Given the description of an element on the screen output the (x, y) to click on. 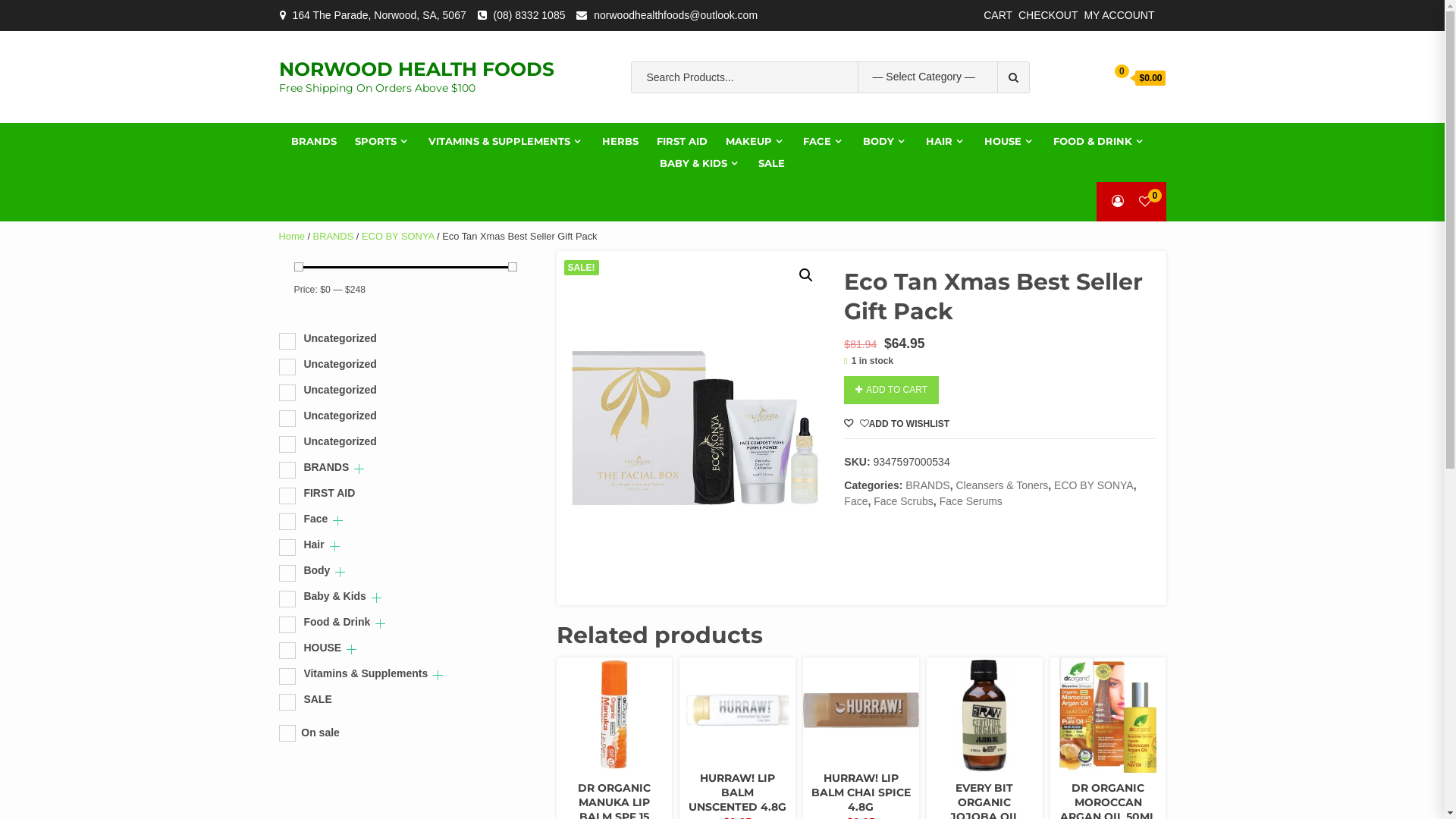
BRANDS Element type: text (754, 776)
BRANDS Element type: text (877, 776)
MAKEUP Element type: text (754, 141)
HAIR Element type: text (945, 141)
Face Serums Element type: text (970, 501)
ECO BY SONYA Element type: text (397, 235)
BABY & KIDS Element type: text (699, 163)
0 Element type: text (1145, 200)
CHECKOUT Element type: text (1048, 15)
CART Element type: text (997, 15)
BODY Element type: text (884, 141)
VITAMINS & SUPPLEMENTS Element type: text (505, 141)
BRANDS Element type: text (631, 786)
MY ACCOUNT Element type: text (1118, 15)
Face Element type: text (855, 501)
BRANDS Element type: text (333, 235)
HURRAW! LIP BALM CHAI SPICE 4.8G Element type: text (860, 792)
HERBS Element type: text (620, 141)
FACE Element type: text (823, 141)
BRANDS Element type: text (1001, 786)
792618040_1_1_720x928.jpg Element type: hover (693, 427)
Home Element type: text (291, 235)
SALE Element type: text (771, 163)
ADD TO CART Element type: text (891, 390)
FIRST AID Element type: text (681, 141)
ADD TO WISHLIST Element type: text (896, 423)
Face Scrubs Element type: text (903, 501)
NORWOOD HEALTH FOODS Element type: text (416, 68)
HOUSE Element type: text (1009, 141)
0 Element type: text (1111, 75)
HURRAW! LIP BALM UNSCENTED 4.8G Element type: text (737, 792)
(08) 8332 1085 Element type: text (529, 15)
ECO BY SONYA Element type: text (1093, 485)
BRANDS Element type: text (927, 485)
BRANDS Element type: text (313, 141)
SPORTS Element type: text (382, 141)
norwoodhealthfoods@outlook.com Element type: text (675, 15)
Cleansers & Toners Element type: text (1001, 485)
BRANDS Element type: text (1124, 786)
FOOD & DRINK Element type: text (1099, 141)
